Given the description of an element on the screen output the (x, y) to click on. 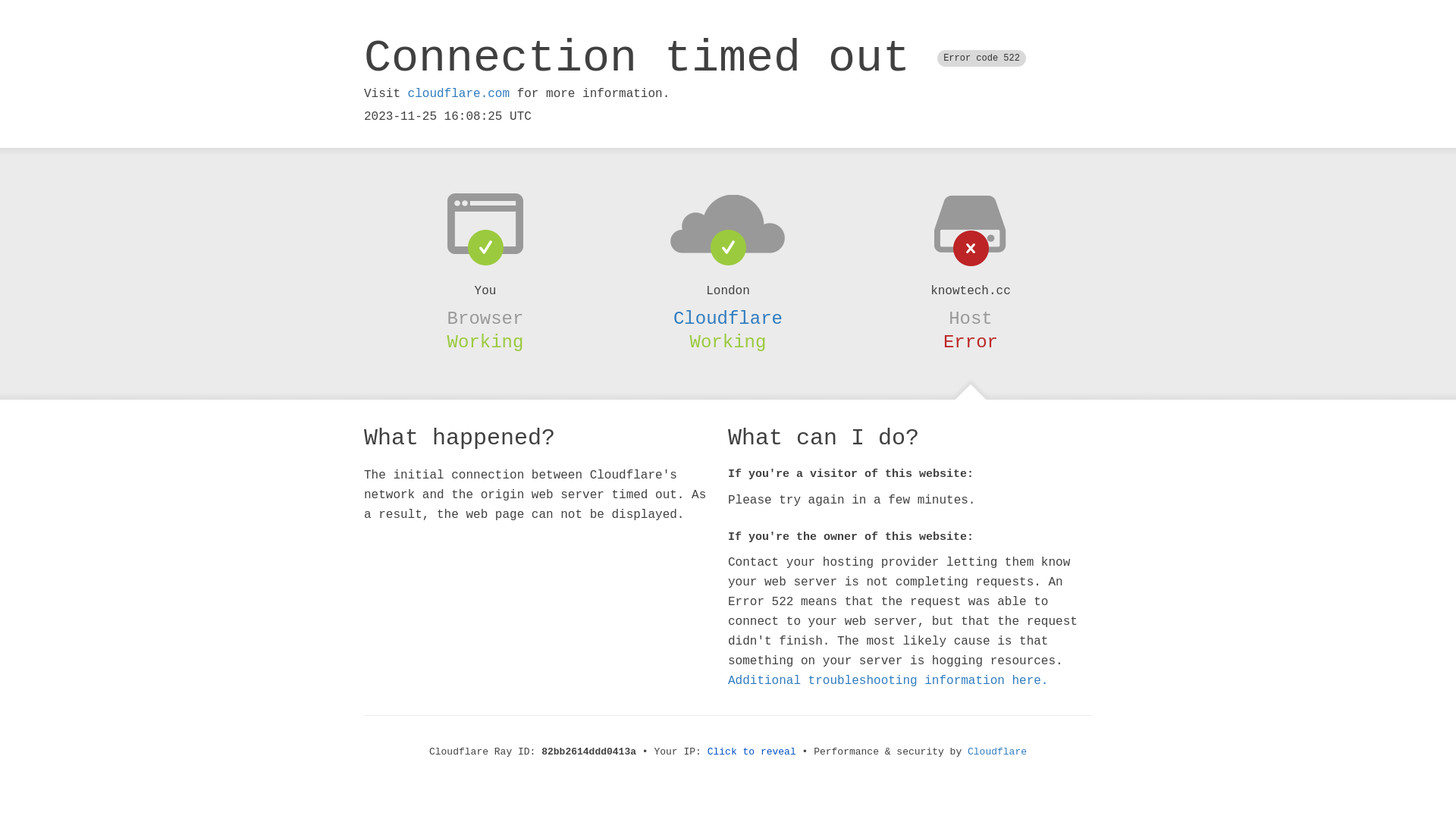
Cloudflare Element type: text (996, 751)
Click to reveal Element type: text (751, 751)
Cloudflare Element type: text (727, 318)
cloudflare.com Element type: text (458, 93)
Additional troubleshooting information here. Element type: text (888, 680)
